Given the description of an element on the screen output the (x, y) to click on. 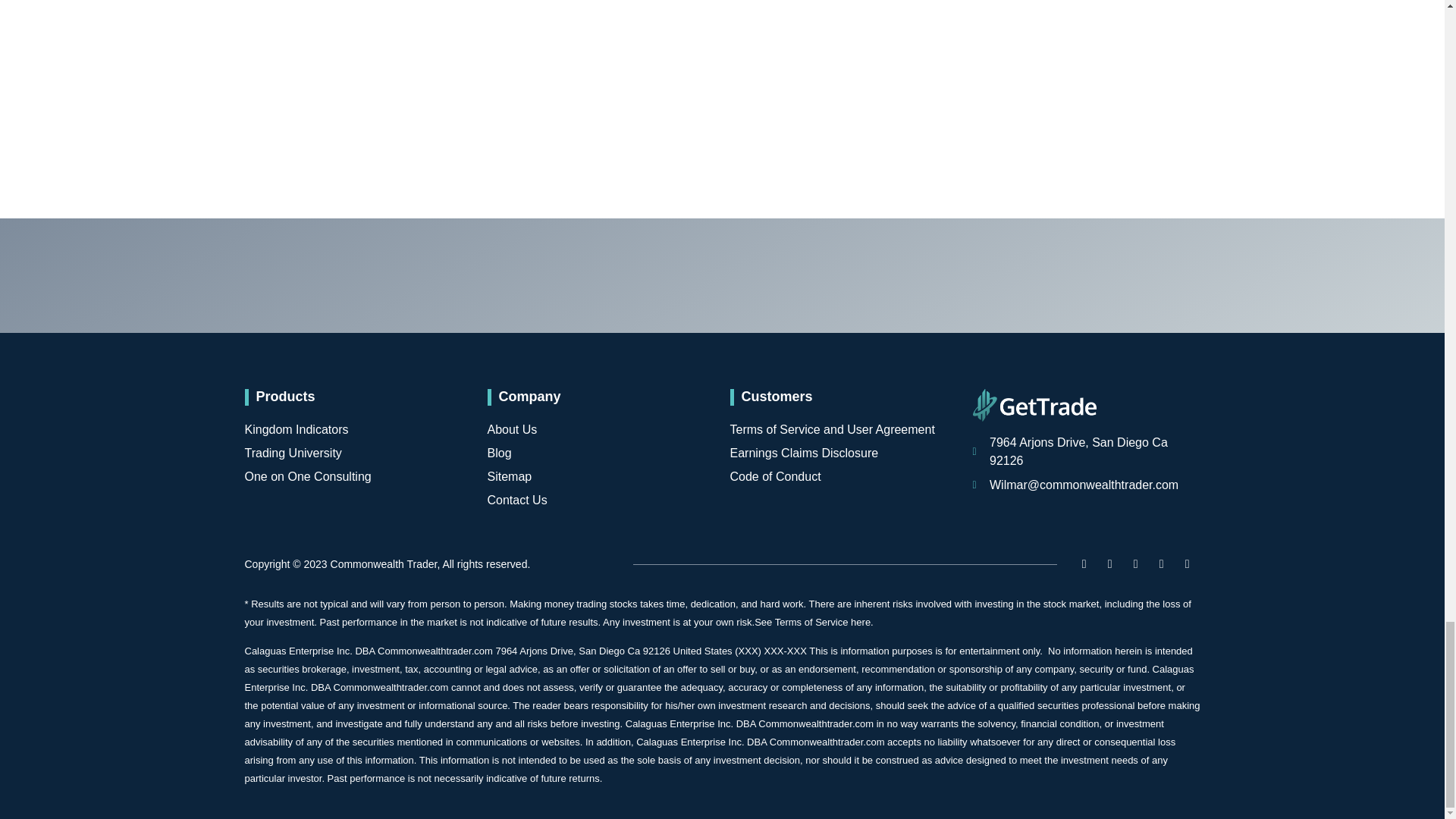
Contact Us (600, 500)
One on One Consulting (357, 476)
Code of Conduct (842, 476)
Trading University (357, 453)
Earnings Claims Disclosure (842, 453)
Sitemap (600, 476)
Blog (600, 453)
Kingdom Indicators (357, 429)
Terms of Service and User Agreement (842, 429)
About Us (600, 429)
